Given the description of an element on the screen output the (x, y) to click on. 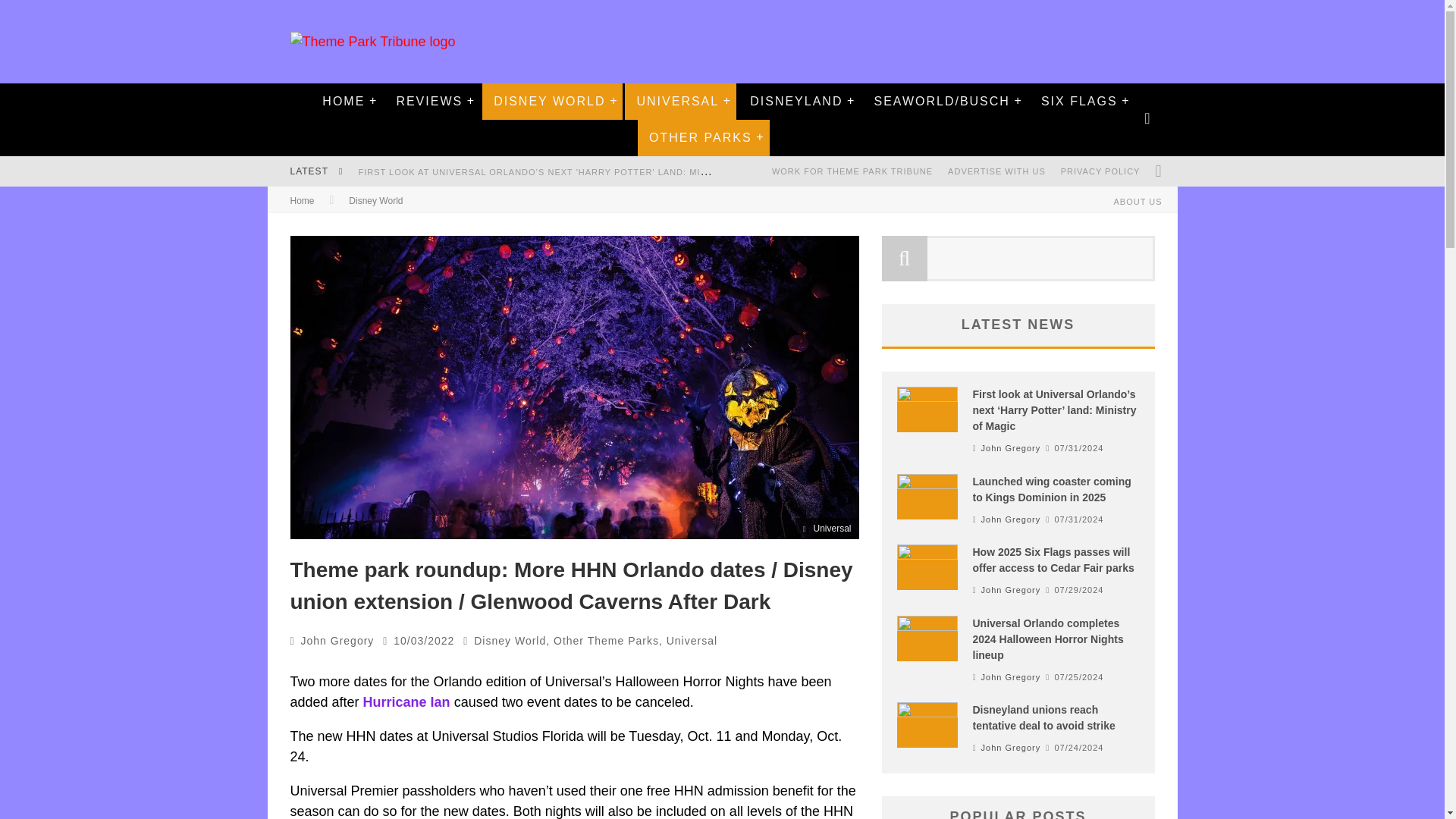
Disney World (510, 640)
SeaWorld Orlando (940, 101)
ABOUT US (1137, 201)
View all posts in Other Theme Parks (606, 640)
PRIVACY POLICY (1100, 171)
Log In (721, 470)
ADVERTISE WITH US (996, 171)
HOME (343, 101)
Other Theme Parks (606, 640)
John Gregory (337, 640)
View all posts in Universal (691, 640)
DISNEYLAND (795, 101)
SIX FLAGS (1079, 101)
Home (301, 200)
View all posts in Disney World (510, 640)
